Given the description of an element on the screen output the (x, y) to click on. 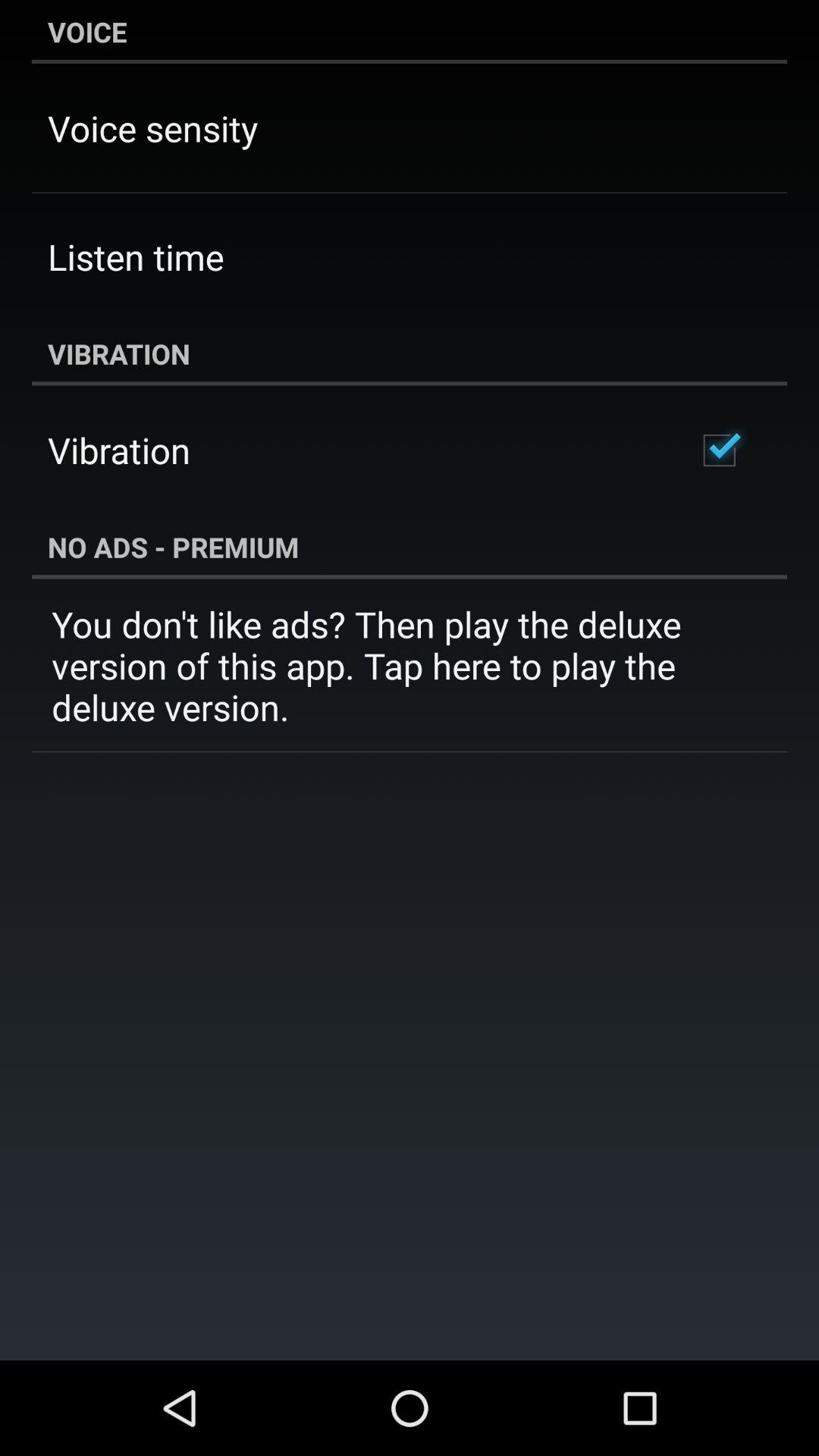
tap icon below the vibration app (719, 450)
